Given the description of an element on the screen output the (x, y) to click on. 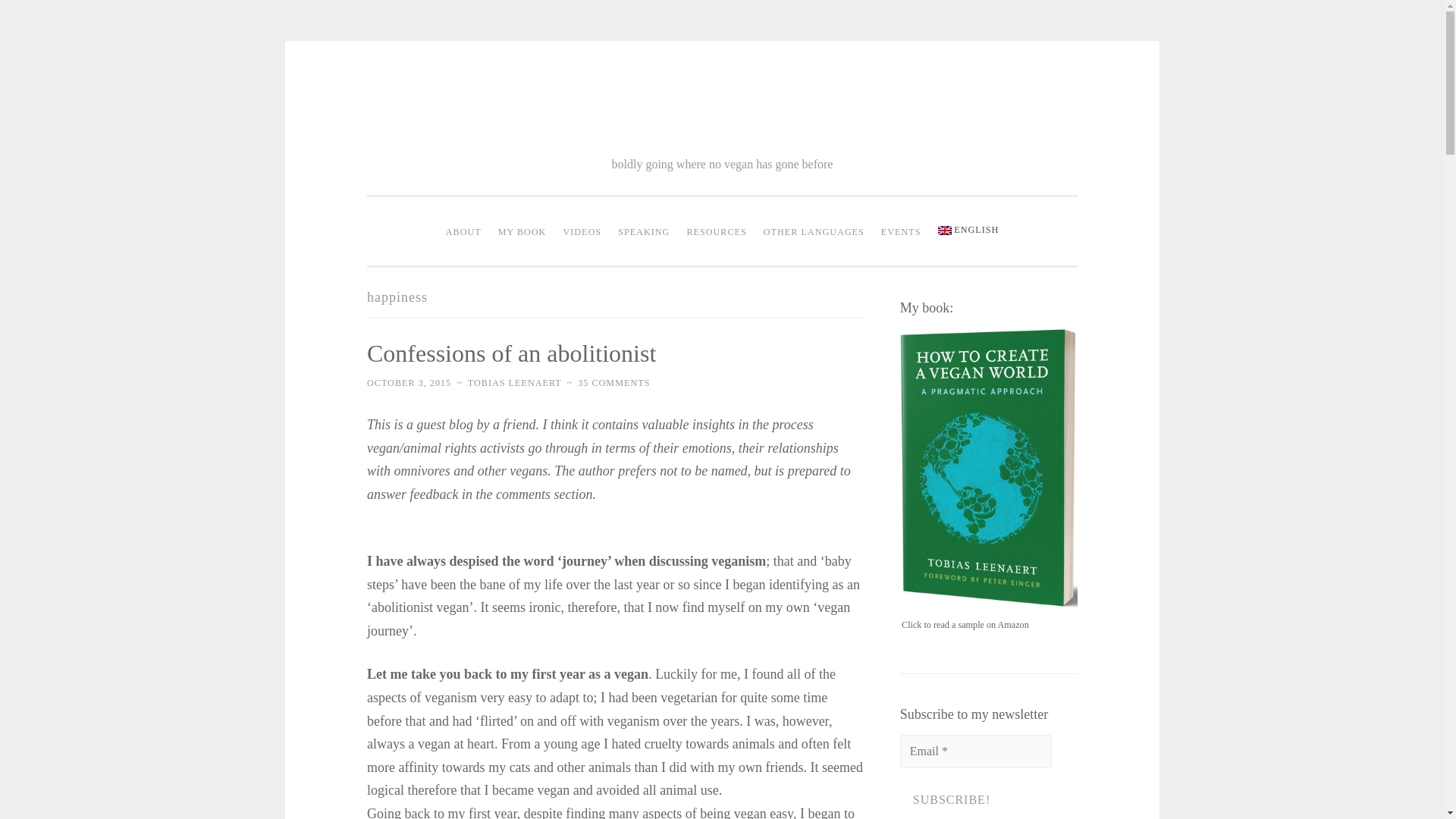
Subscribe! (951, 799)
Search (39, 16)
ABOUT (463, 232)
SPEAKING (644, 232)
OCTOBER 3, 2015 (408, 382)
RESOURCES (715, 232)
Email (975, 751)
OTHER LANGUAGES (813, 232)
The Vegan Strategist (721, 111)
MY BOOK (522, 232)
EVENTS (901, 232)
35 COMMENTS (613, 382)
English (968, 230)
Confessions of an abolitionist (511, 352)
